Given the description of an element on the screen output the (x, y) to click on. 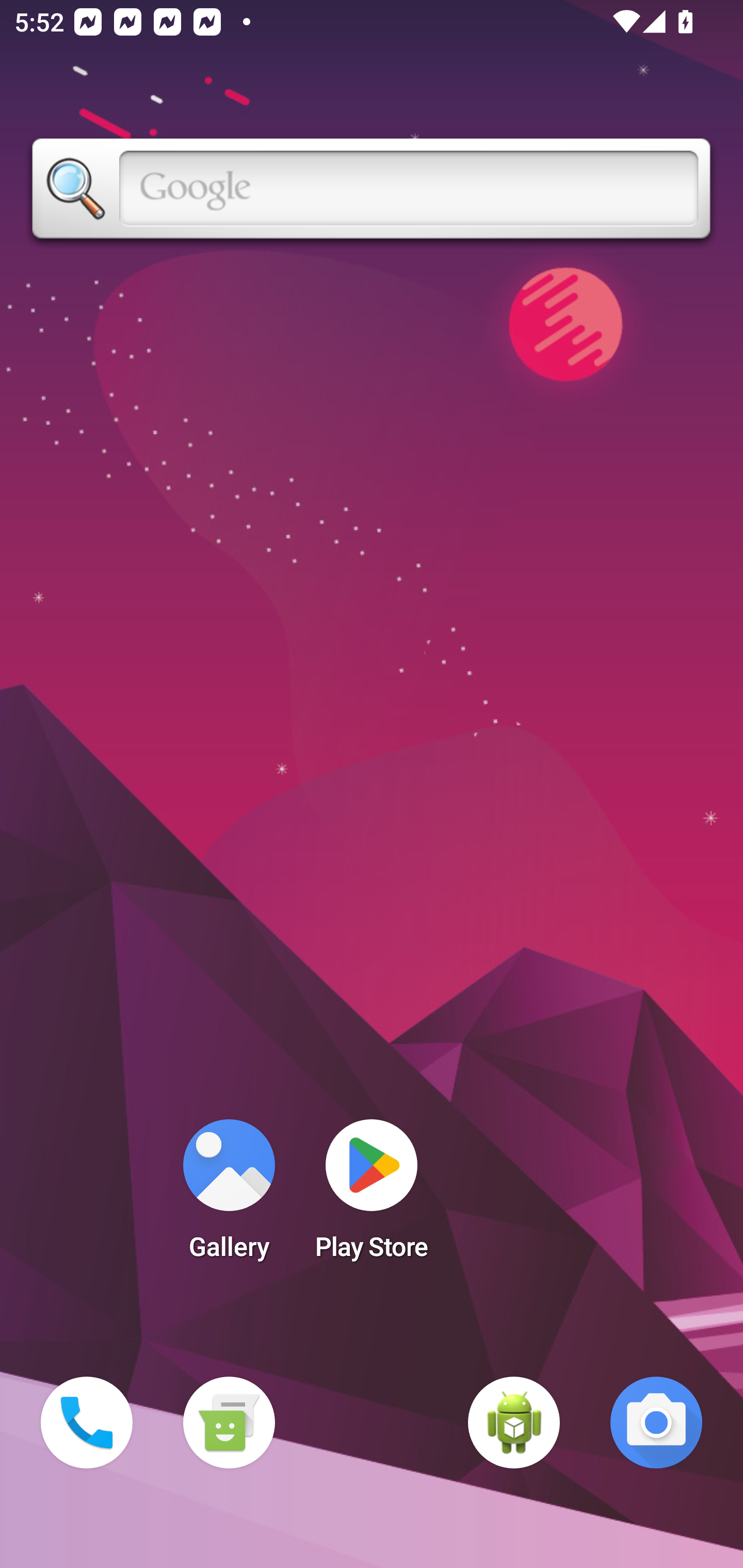
Gallery (228, 1195)
Play Store (371, 1195)
Phone (86, 1422)
Messaging (228, 1422)
WebView Browser Tester (513, 1422)
Camera (656, 1422)
